Given the description of an element on the screen output the (x, y) to click on. 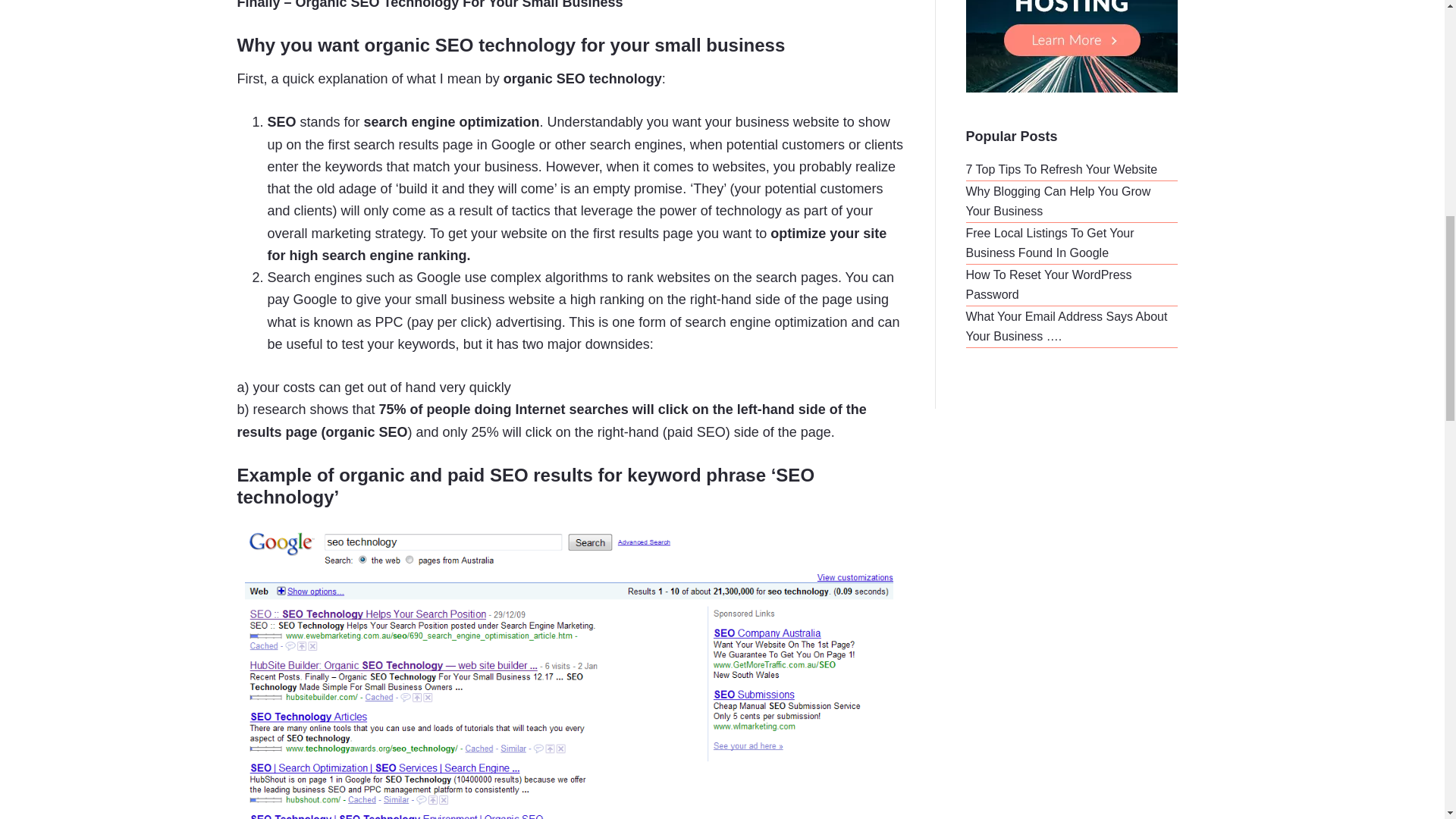
7 Top Tips To Refresh Your Website (1061, 169)
Why Blogging Can Help You Grow Your Business (1058, 201)
Free Local Listings To Get Your Business Found In Google (1050, 242)
How To Reset Your WordPress Password (1049, 284)
